Given the description of an element on the screen output the (x, y) to click on. 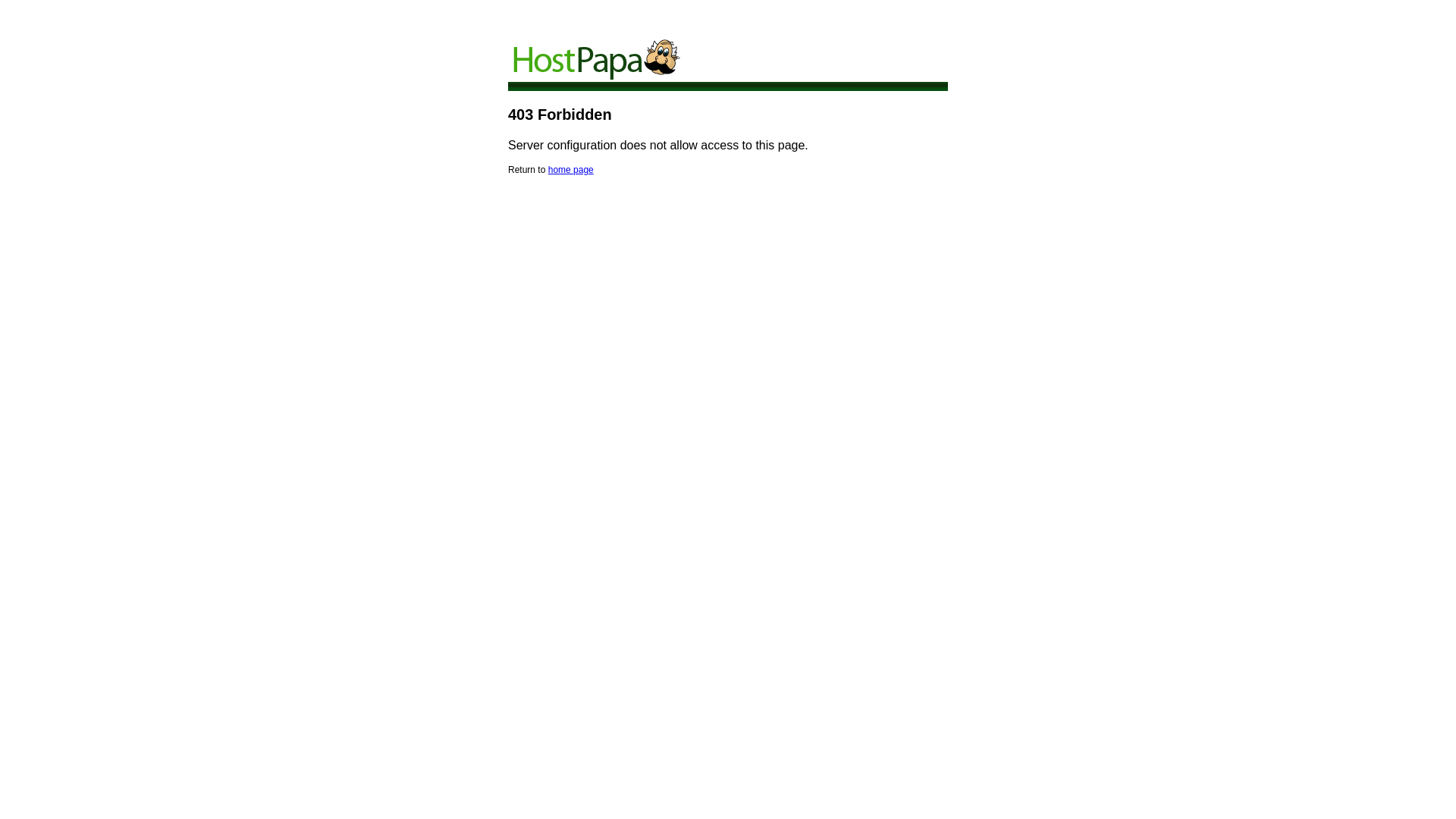
home page Element type: text (570, 169)
